Given the description of an element on the screen output the (x, y) to click on. 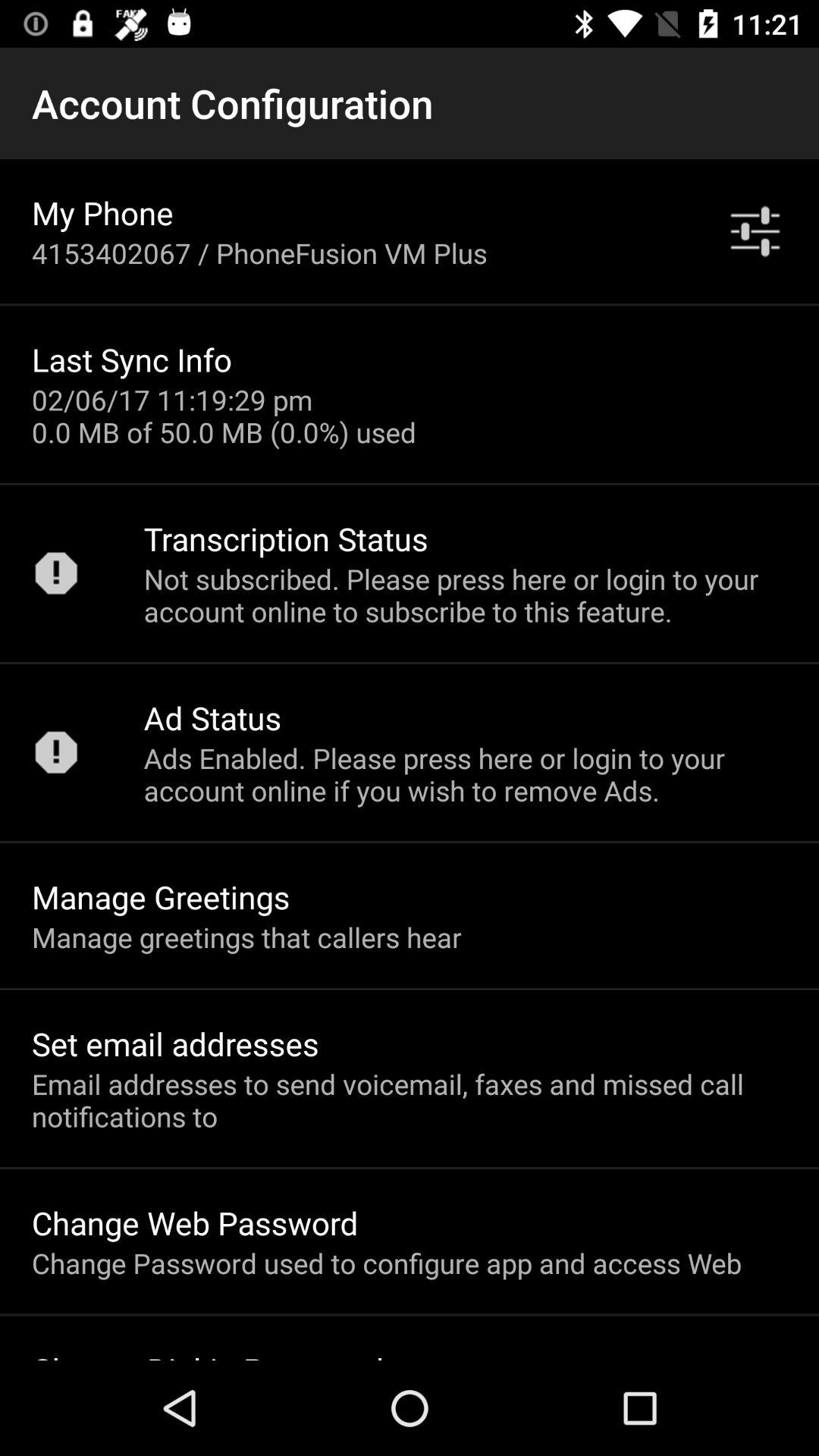
tap the item below the account configuration icon (102, 212)
